Given the description of an element on the screen output the (x, y) to click on. 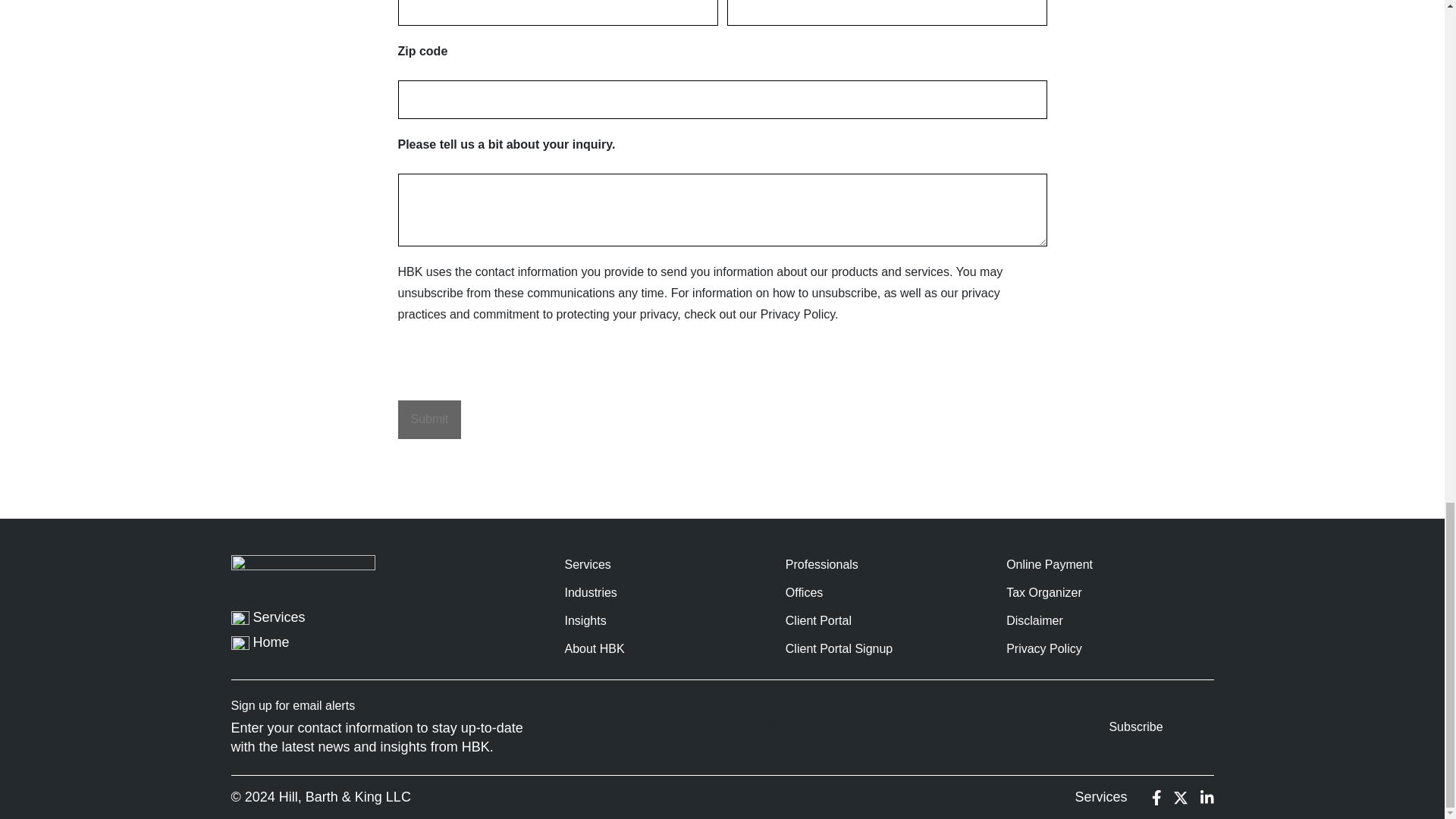
Home (267, 642)
Services (267, 617)
Subscribe (1135, 727)
Submit (429, 419)
HBK (302, 572)
